Given the description of an element on the screen output the (x, y) to click on. 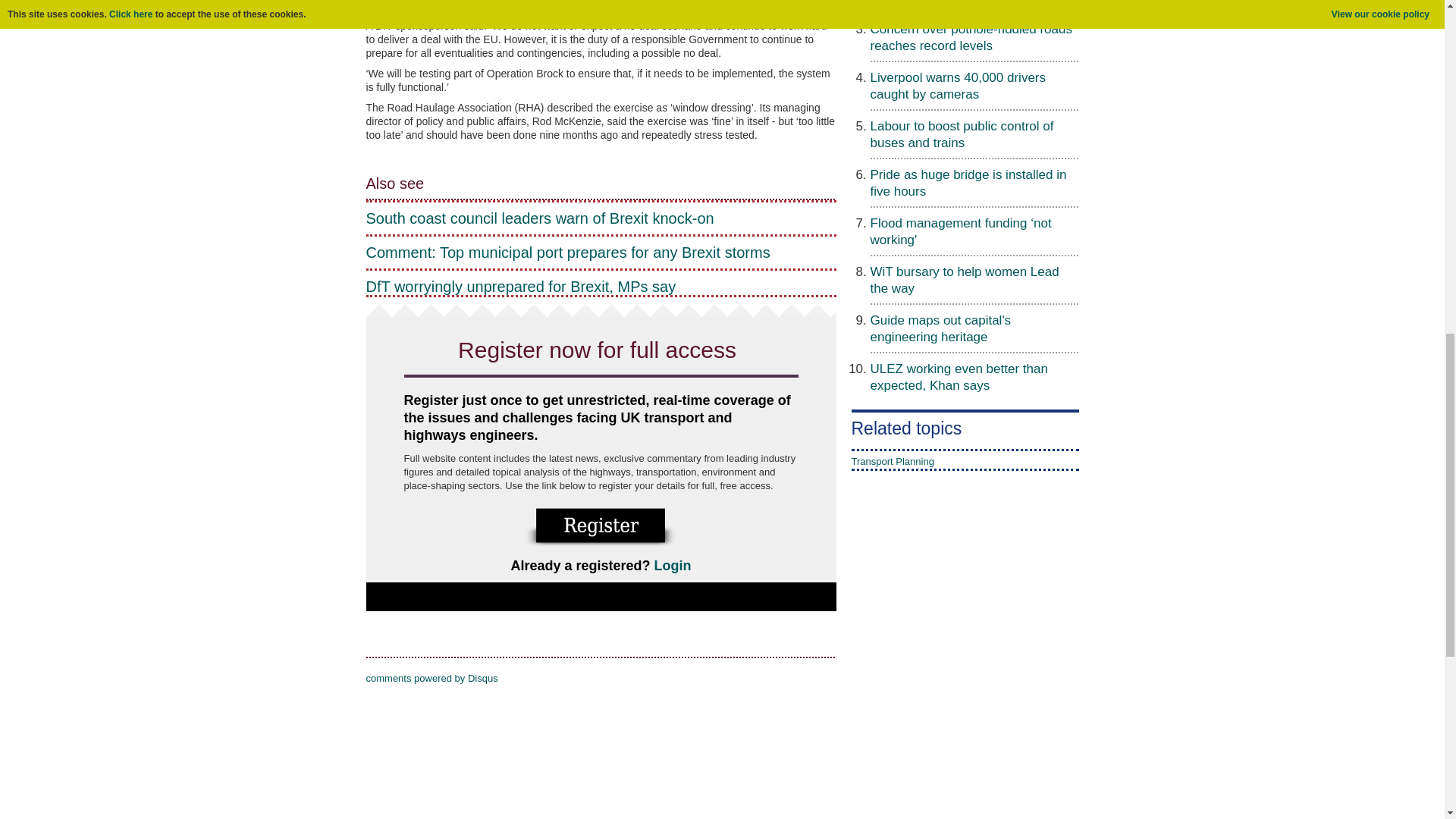
Login (672, 565)
Comment: Top municipal port prepares for any Brexit storms (600, 252)
3rd party ad content (721, 785)
South coast council leaders warn of Brexit knock-on (600, 217)
DfT worryingly unprepared for Brexit, MPs say (600, 286)
3rd party ad content (907, 654)
